Given the description of an element on the screen output the (x, y) to click on. 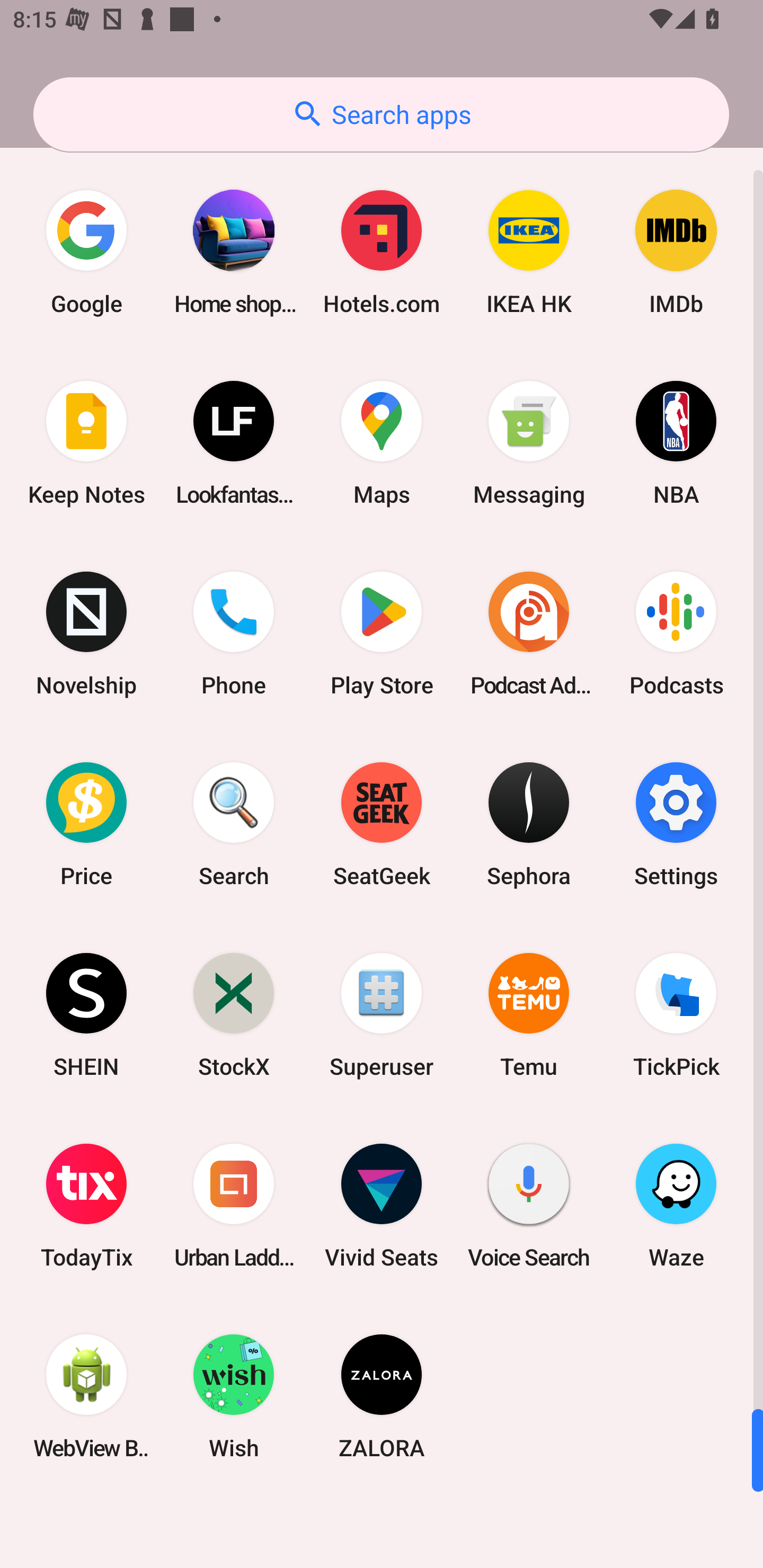
  Search apps (381, 114)
Google (86, 252)
Home shopping (233, 252)
Hotels.com (381, 252)
IKEA HK (528, 252)
IMDb (676, 252)
Keep Notes (86, 442)
Lookfantastic (233, 442)
Maps (381, 442)
Messaging (528, 442)
NBA (676, 442)
Novelship (86, 633)
Phone (233, 633)
Play Store (381, 633)
Podcast Addict (528, 633)
Podcasts (676, 633)
Price (86, 823)
Search (233, 823)
SeatGeek (381, 823)
Sephora (528, 823)
Settings (676, 823)
SHEIN (86, 1014)
StockX (233, 1014)
Superuser (381, 1014)
Temu (528, 1014)
TickPick (676, 1014)
TodayTix (86, 1205)
Urban Ladder (233, 1205)
Vivid Seats (381, 1205)
Voice Search (528, 1205)
Waze (676, 1205)
WebView Browser Tester (86, 1396)
Wish (233, 1396)
ZALORA (381, 1396)
